Given the description of an element on the screen output the (x, y) to click on. 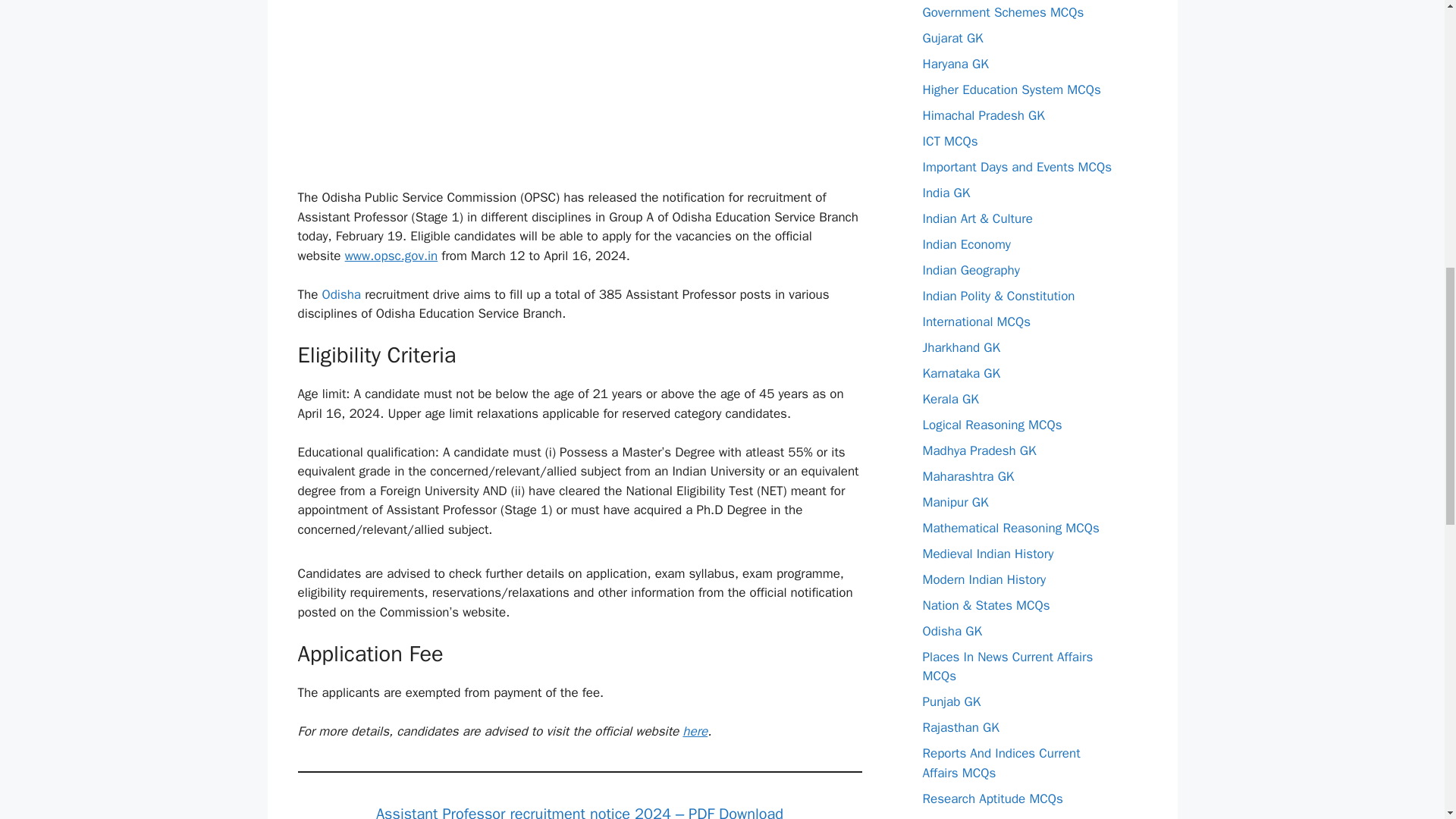
Odisha (341, 294)
here (694, 731)
www.opsc.gov.in (391, 255)
Scroll back to top (1406, 720)
Advertisement (579, 90)
